Given the description of an element on the screen output the (x, y) to click on. 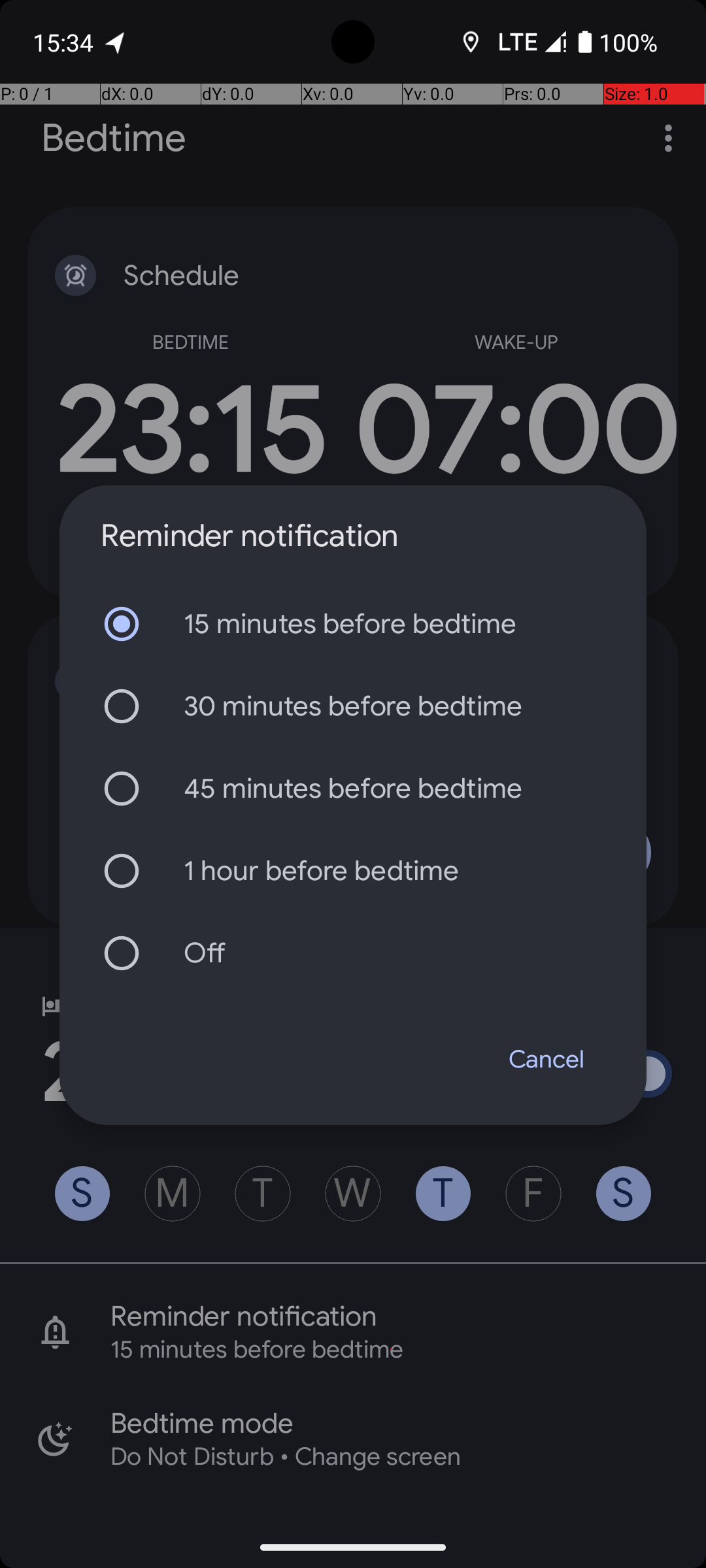
Reminder notification Element type: android.widget.TextView (249, 535)
15 minutes before bedtime Element type: android.widget.CheckedTextView (352, 623)
30 minutes before bedtime Element type: android.widget.CheckedTextView (352, 706)
45 minutes before bedtime Element type: android.widget.CheckedTextView (352, 788)
1 hour before bedtime Element type: android.widget.CheckedTextView (352, 870)
